Given the description of an element on the screen output the (x, y) to click on. 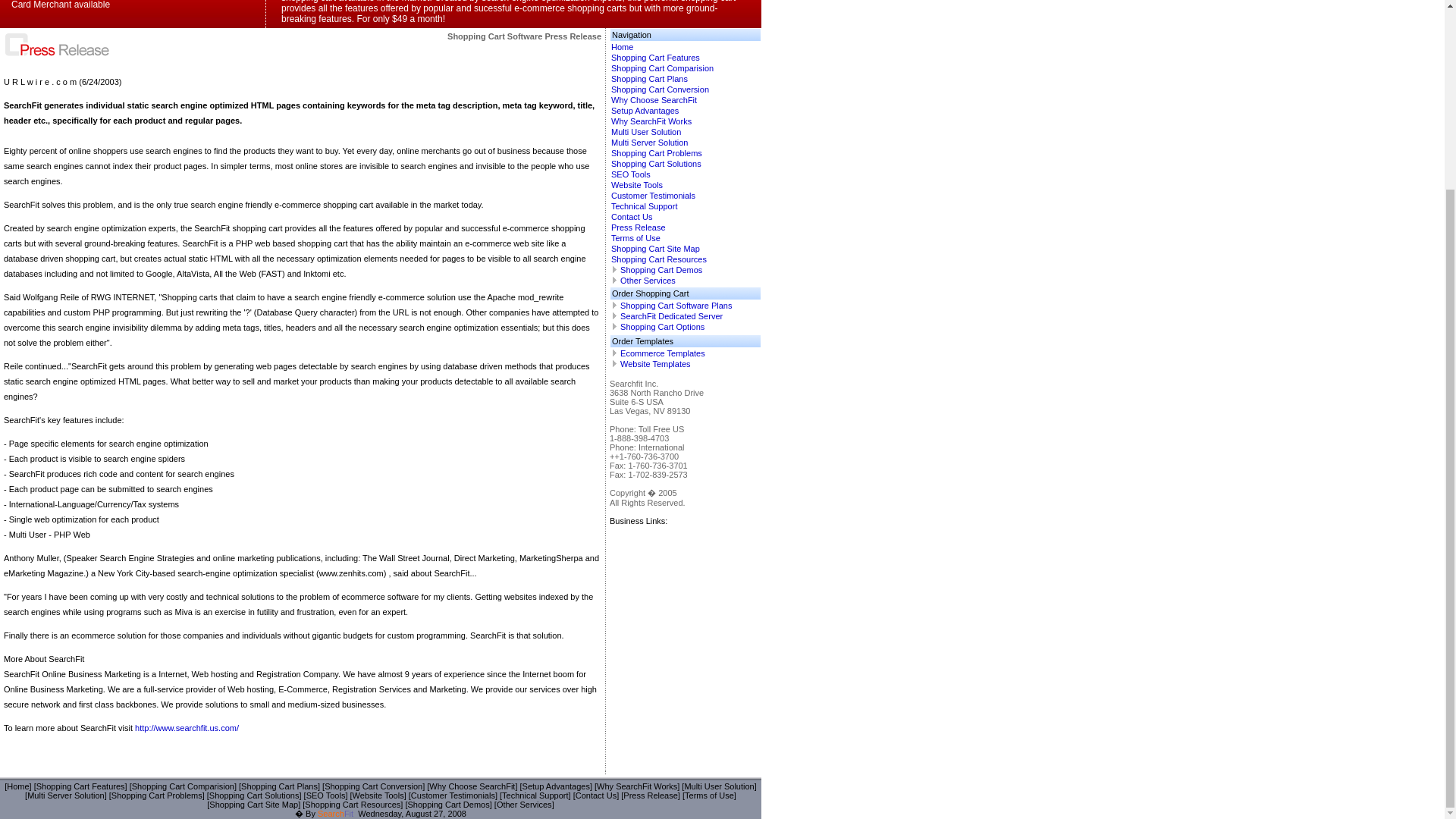
Shopping Cart Features (80, 786)
Shopping Cart Plans (649, 78)
Press Release (638, 226)
Other Services (647, 280)
Shopping Cart Comparision (662, 67)
Terms of Use (636, 237)
Home (622, 46)
Customer Testimonials (653, 194)
Why SearchFit Works (651, 121)
Shopping Cart Software Plans (676, 305)
